Given the description of an element on the screen output the (x, y) to click on. 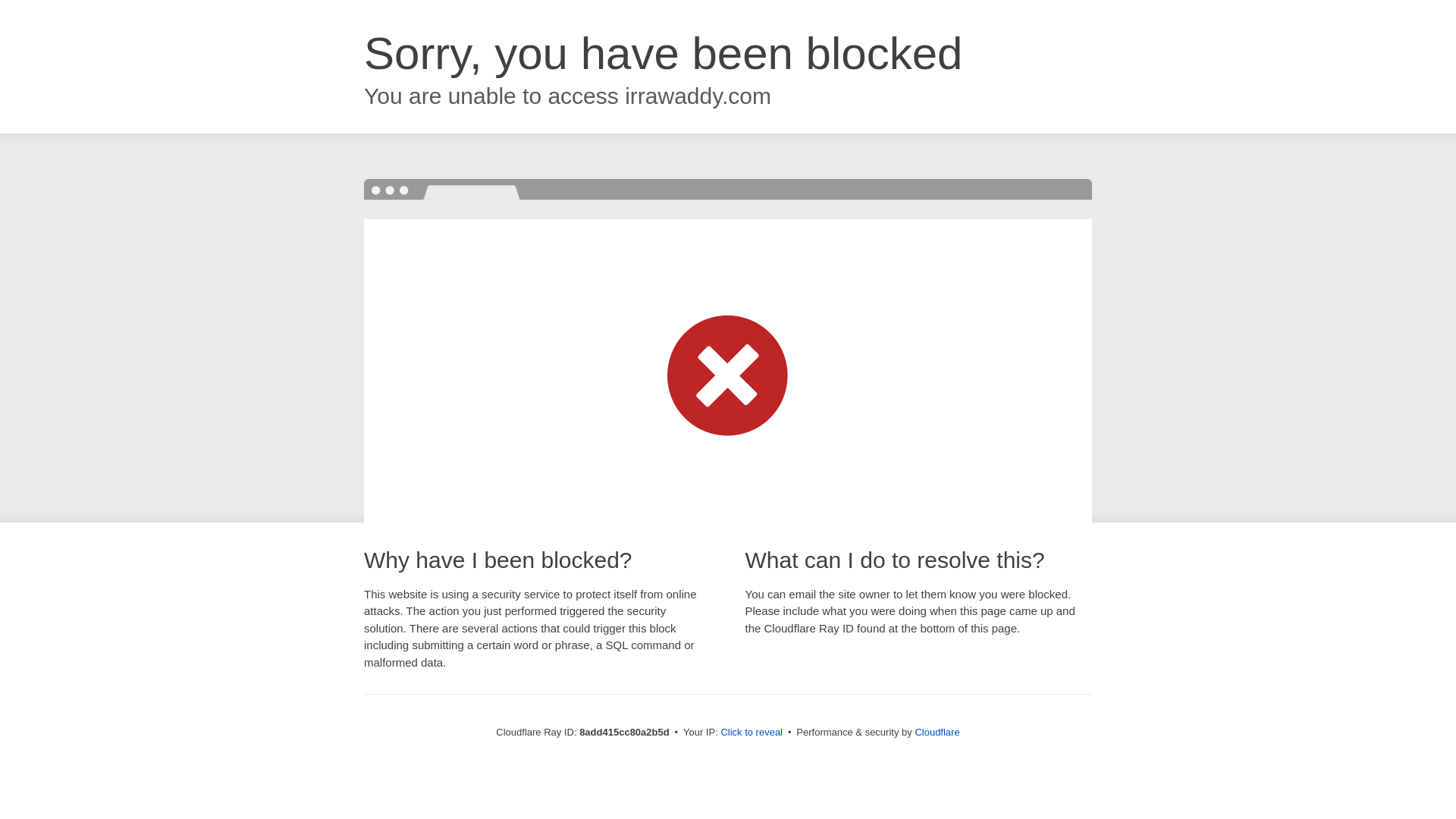
Click to reveal (751, 732)
Cloudflare (936, 731)
